Given the description of an element on the screen output the (x, y) to click on. 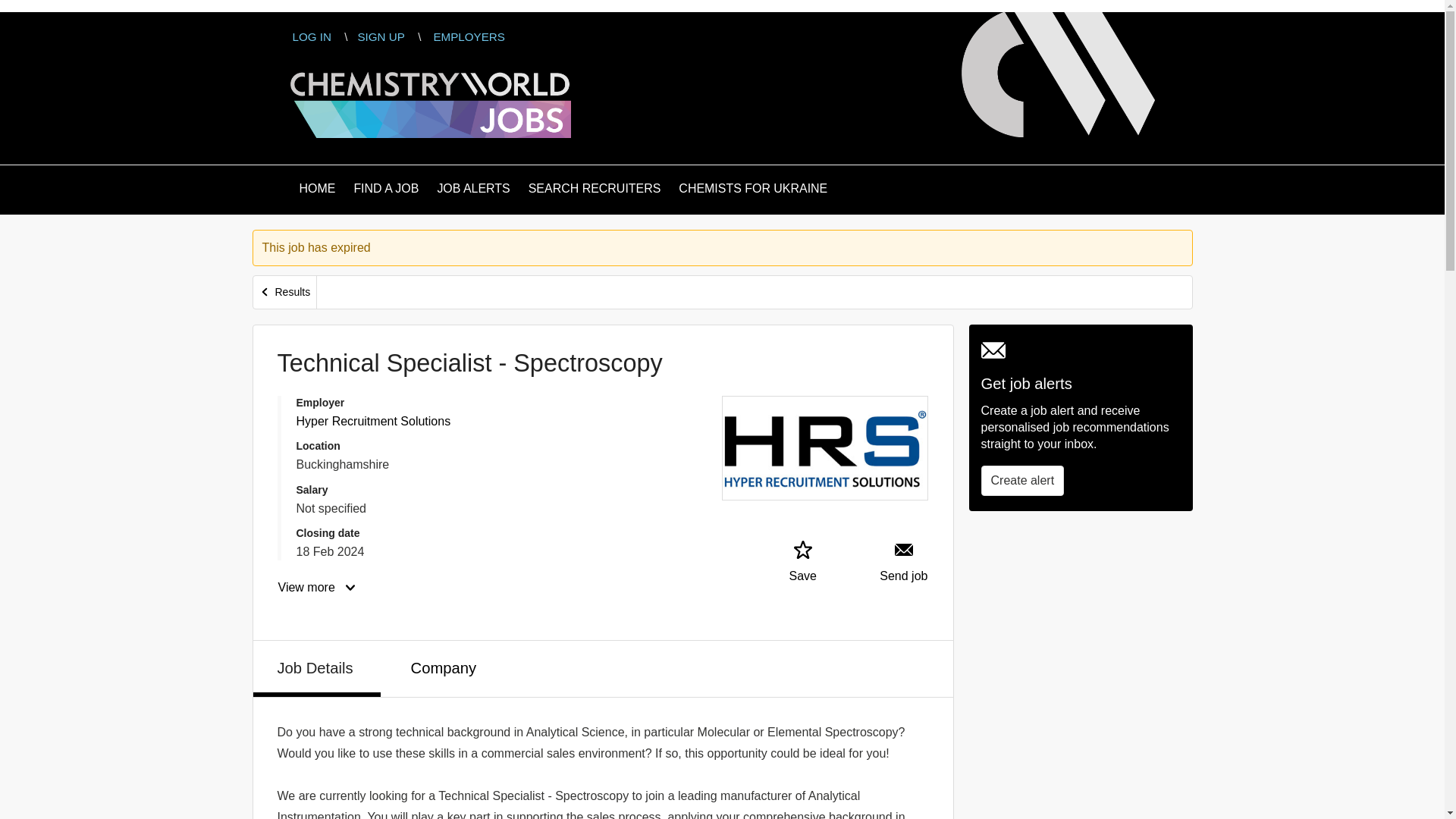
View more (318, 587)
Visit Chemistry World (1057, 74)
Job Details (316, 668)
CHEMISTS FOR UKRAINE (752, 189)
JOB ALERTS (472, 189)
FIND A JOB (386, 189)
SIGN UP (380, 36)
SEARCH RECRUITERS (594, 189)
LOG IN (311, 36)
HOME (316, 189)
EMPLOYERS (468, 36)
Chemistry World Jobs (429, 99)
Results (285, 292)
Company (445, 666)
Hyper Recruitment Solutions (372, 420)
